Given the description of an element on the screen output the (x, y) to click on. 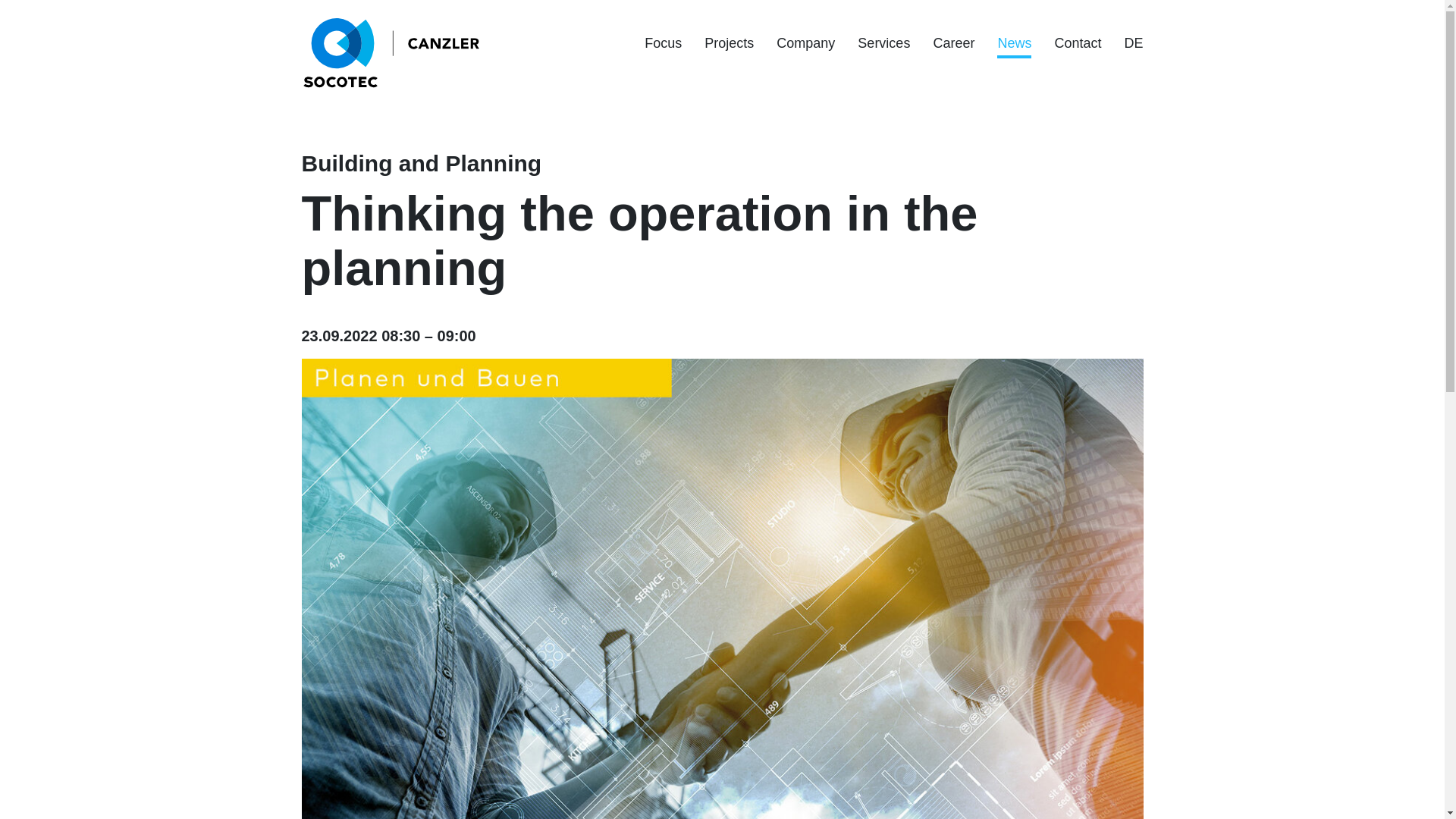
Services (883, 43)
Company (805, 43)
Focus (663, 43)
Projects (729, 43)
News (1013, 43)
Career (953, 43)
